Given the description of an element on the screen output the (x, y) to click on. 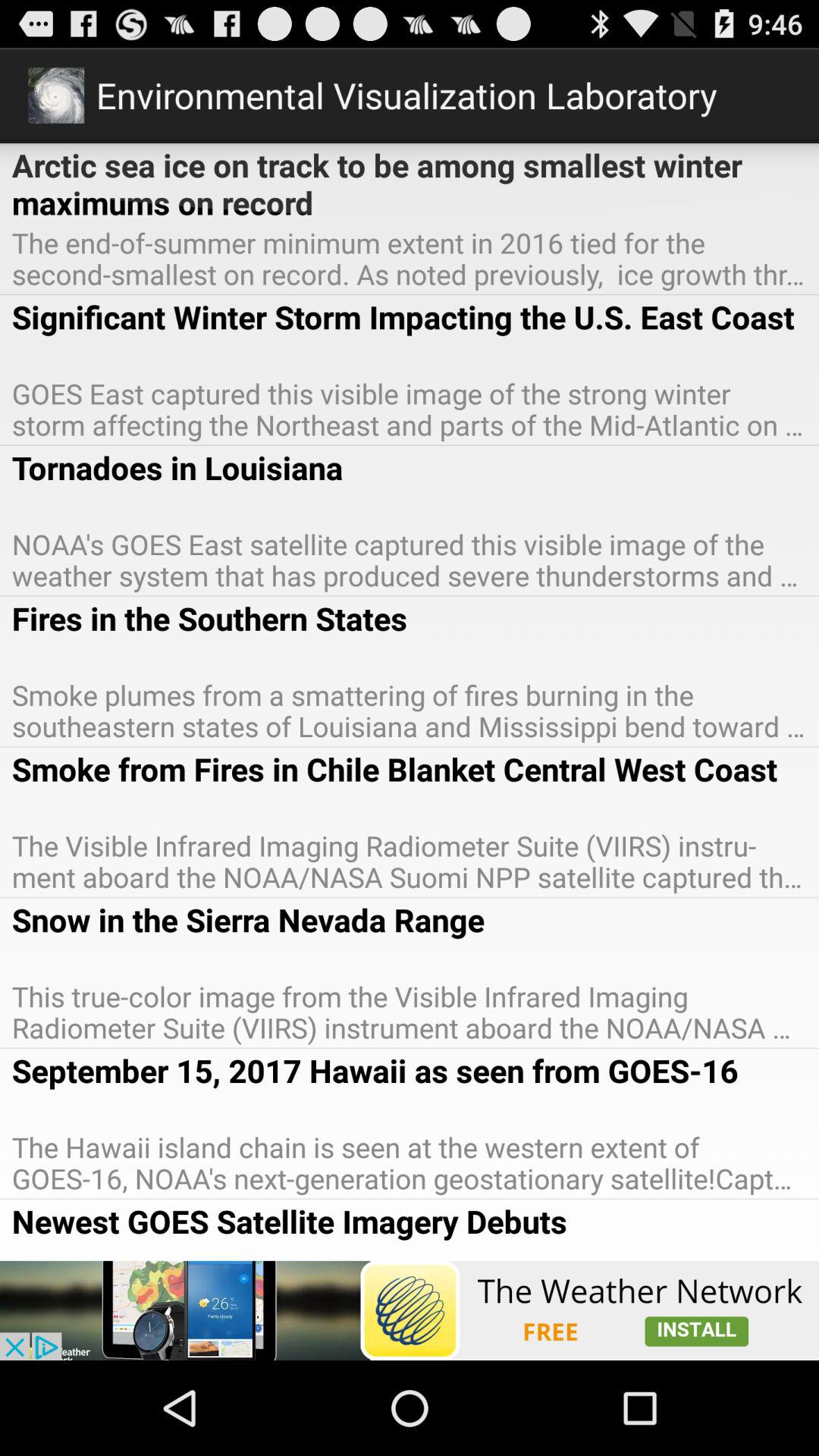
open advertisement (409, 1310)
